Given the description of an element on the screen output the (x, y) to click on. 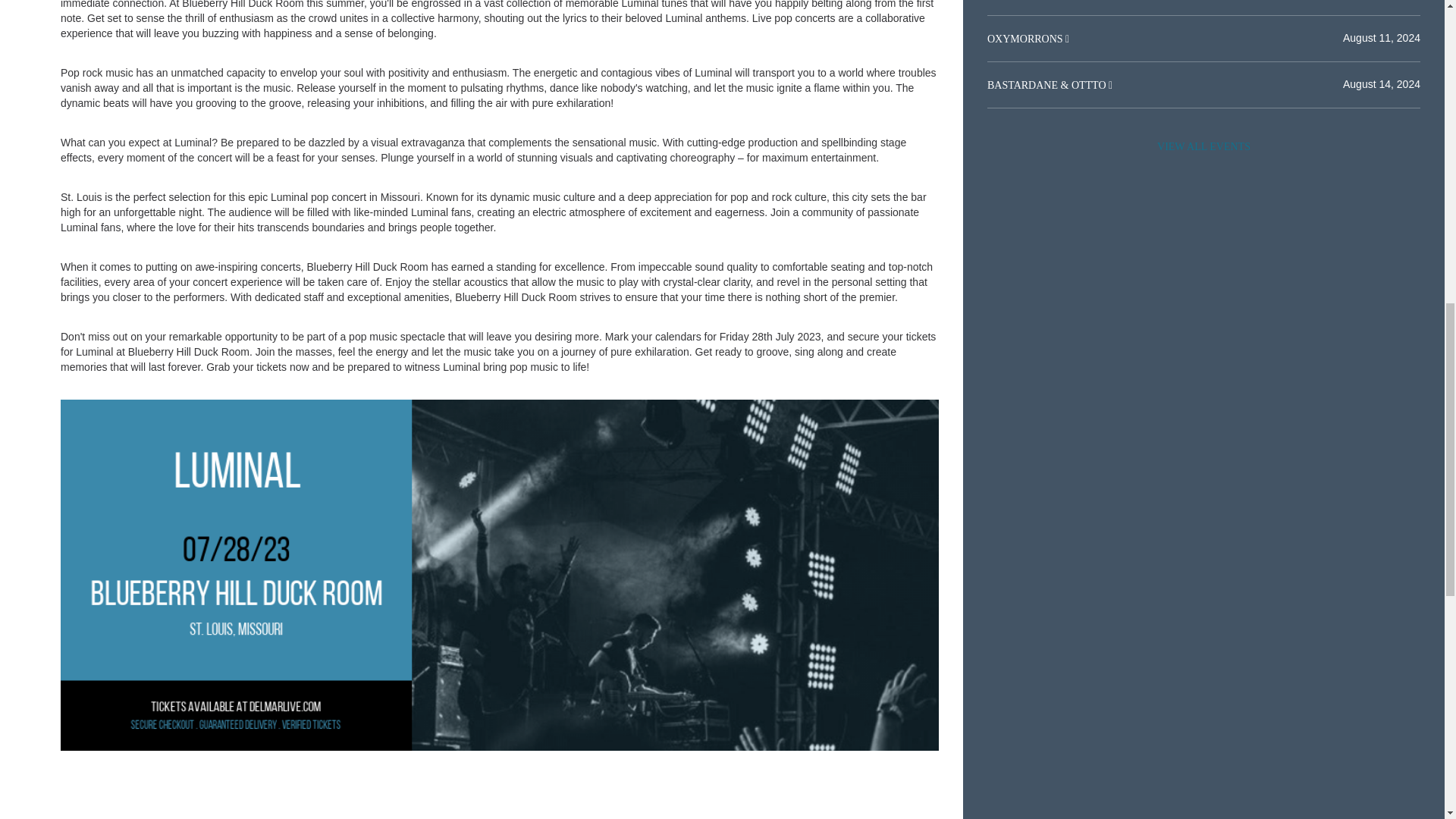
VIEW ALL EVENTS (1203, 146)
